Given the description of an element on the screen output the (x, y) to click on. 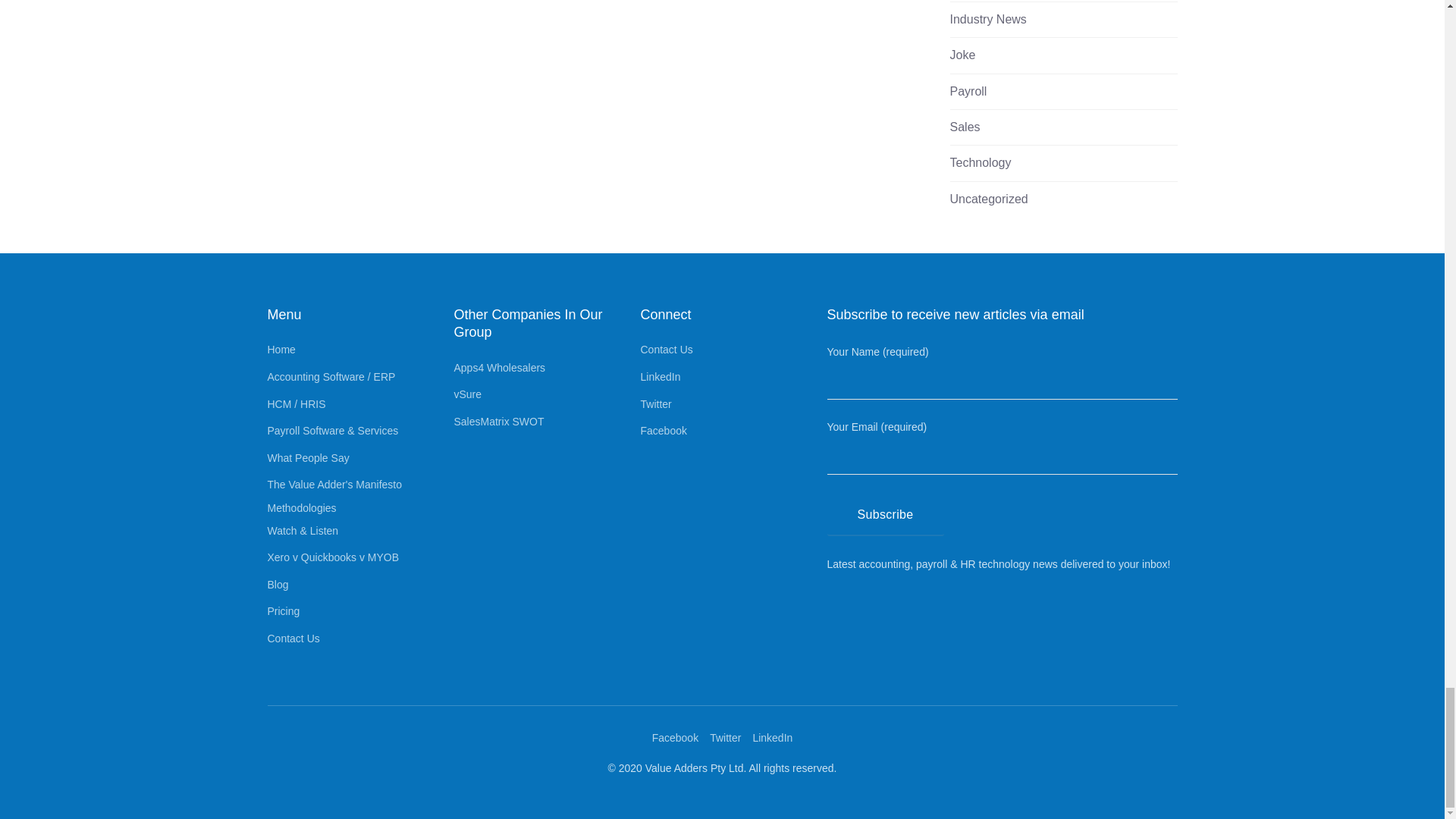
Subscribe (885, 515)
